Given the description of an element on the screen output the (x, y) to click on. 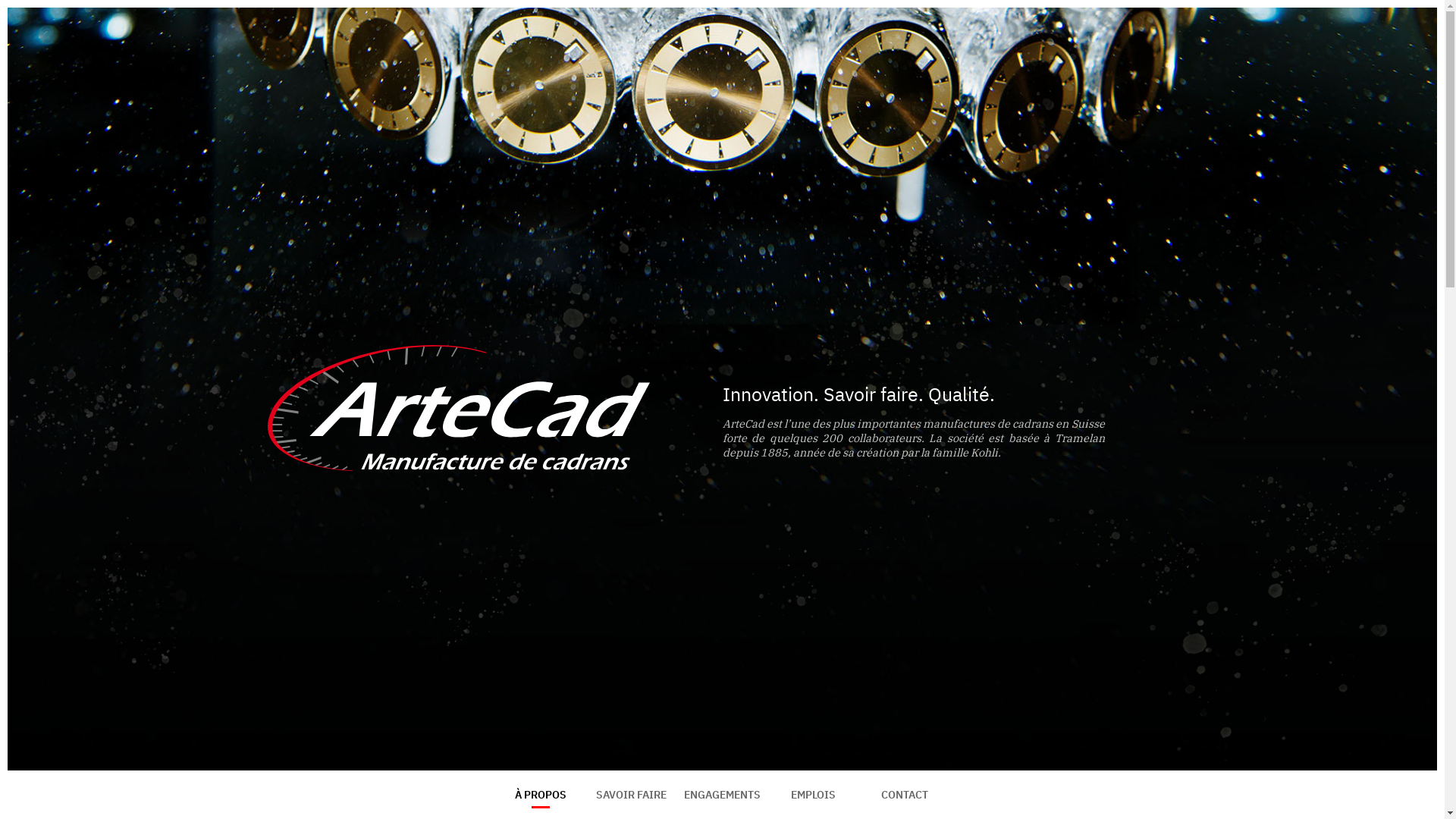
ENGAGEMENTS Element type: text (722, 794)
ArteCad - Manufacture de cadrans Element type: hover (457, 407)
EMPLOIS Element type: text (812, 794)
SAVOIR FAIRE Element type: text (631, 794)
CONTACT Element type: text (904, 794)
